Given the description of an element on the screen output the (x, y) to click on. 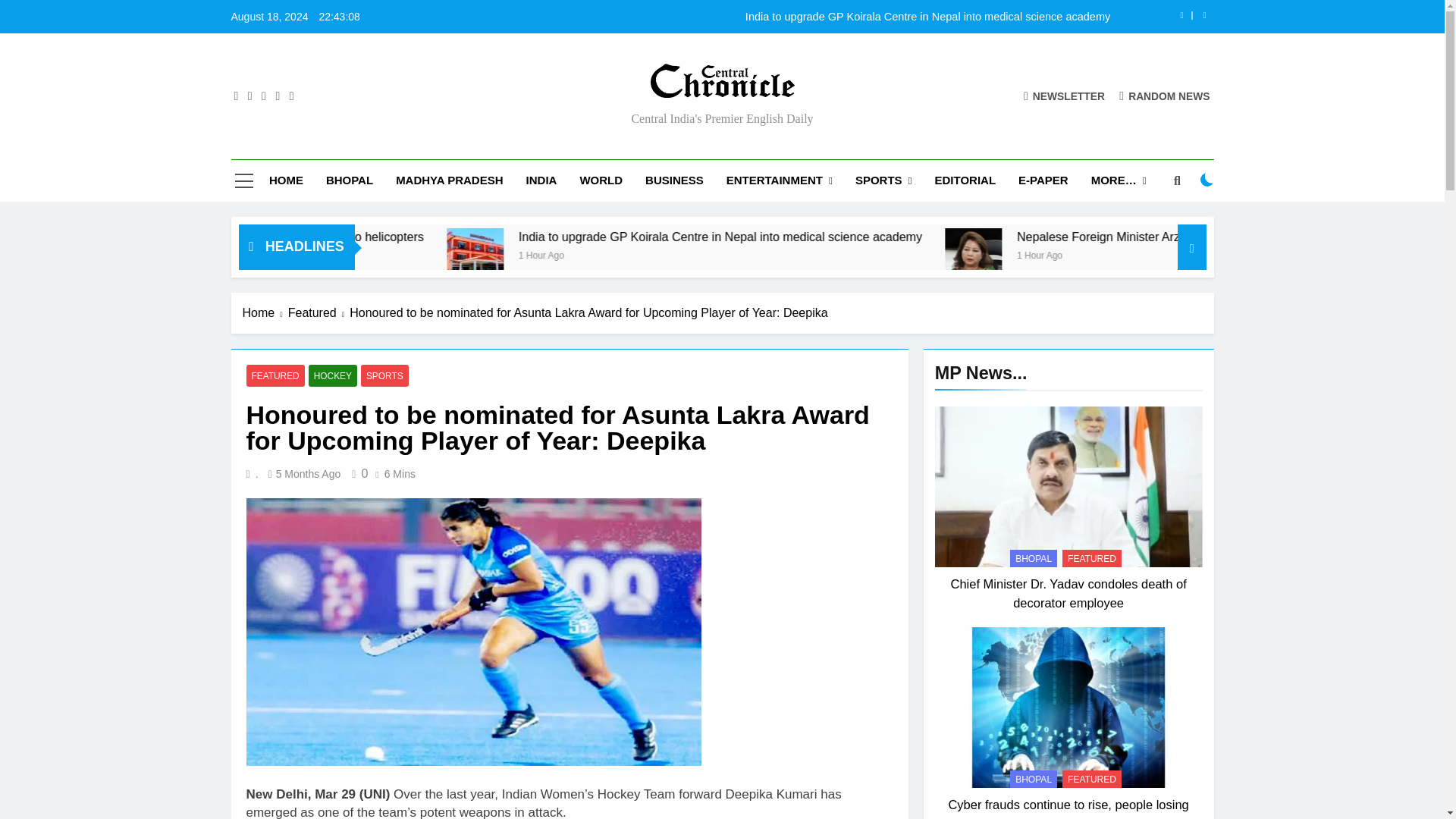
BUSINESS (673, 179)
BHOPAL (349, 179)
MADHYA PRADESH (448, 179)
Central India'S Premier English Daily (560, 109)
NEWSLETTER (1064, 95)
INDIA (542, 179)
RANDOM NEWS (1164, 95)
